Given the description of an element on the screen output the (x, y) to click on. 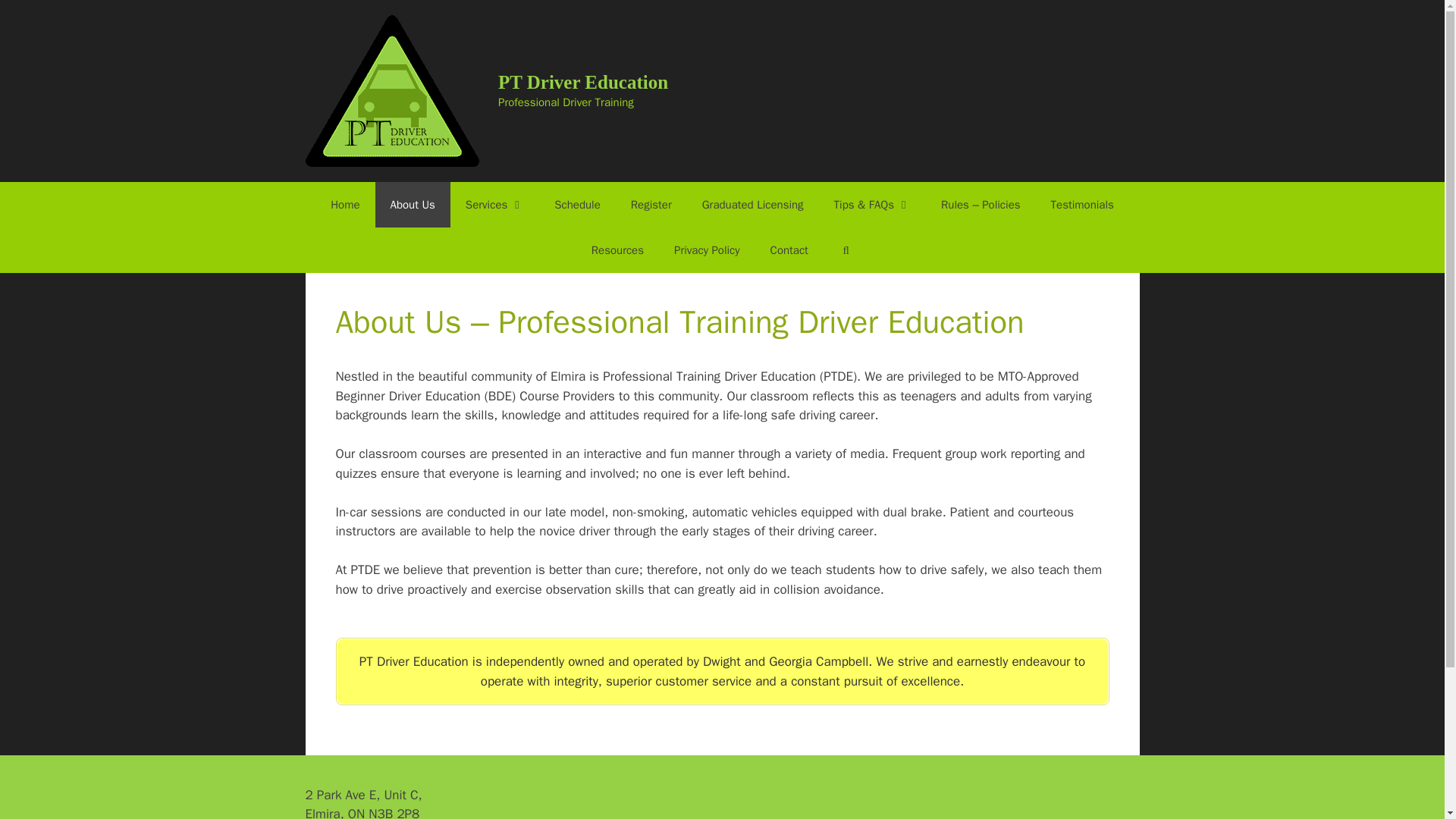
PT Driver Education (582, 82)
Testimonials (1082, 204)
Contact (789, 249)
Resources (617, 249)
Services (493, 204)
Graduated Licensing (752, 204)
About Us (412, 204)
Register (651, 204)
Privacy Policy (707, 249)
Schedule (576, 204)
Home (344, 204)
